Given the description of an element on the screen output the (x, y) to click on. 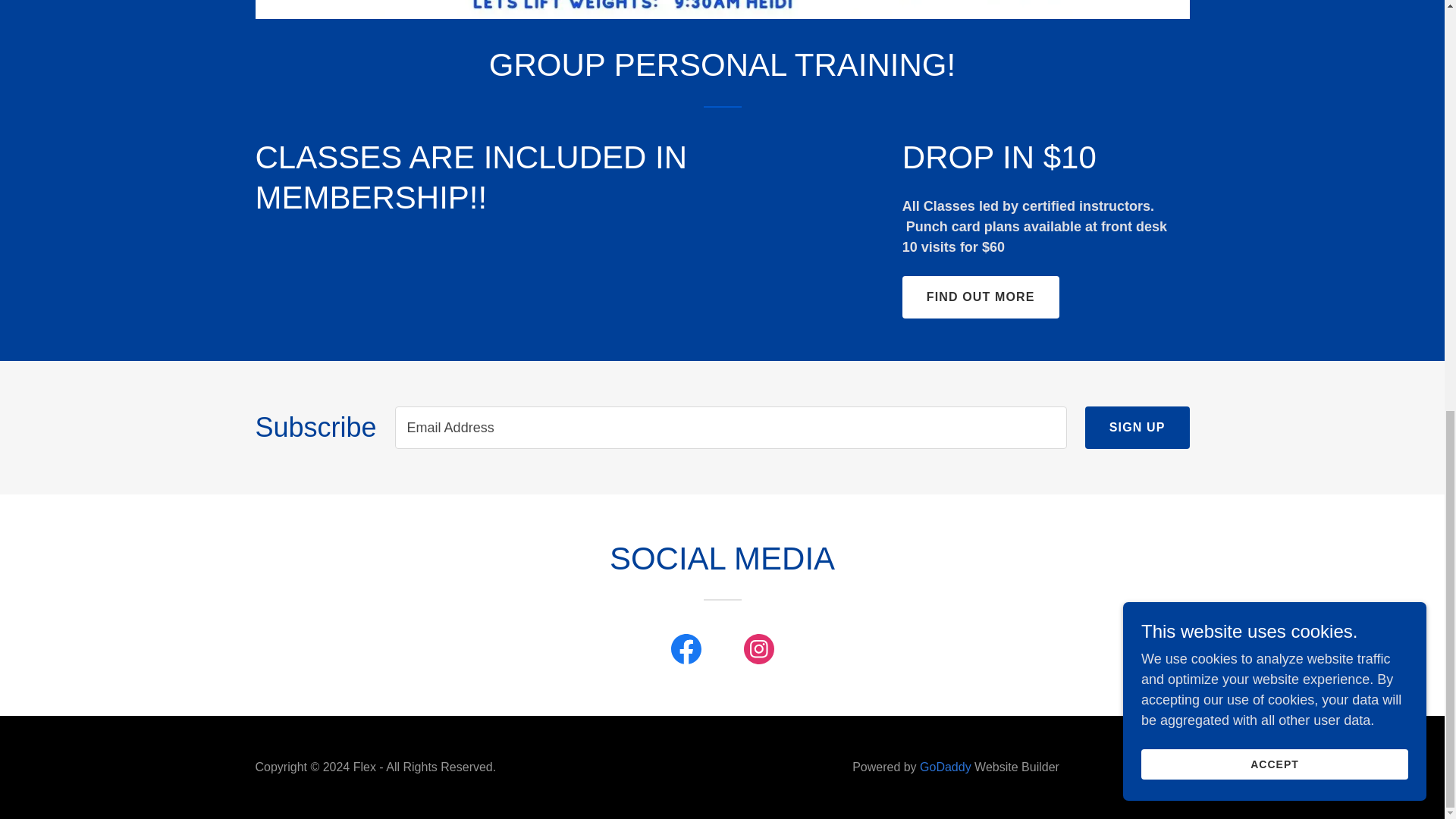
FIND OUT MORE (980, 297)
GoDaddy (945, 766)
SIGN UP (1136, 427)
